Given the description of an element on the screen output the (x, y) to click on. 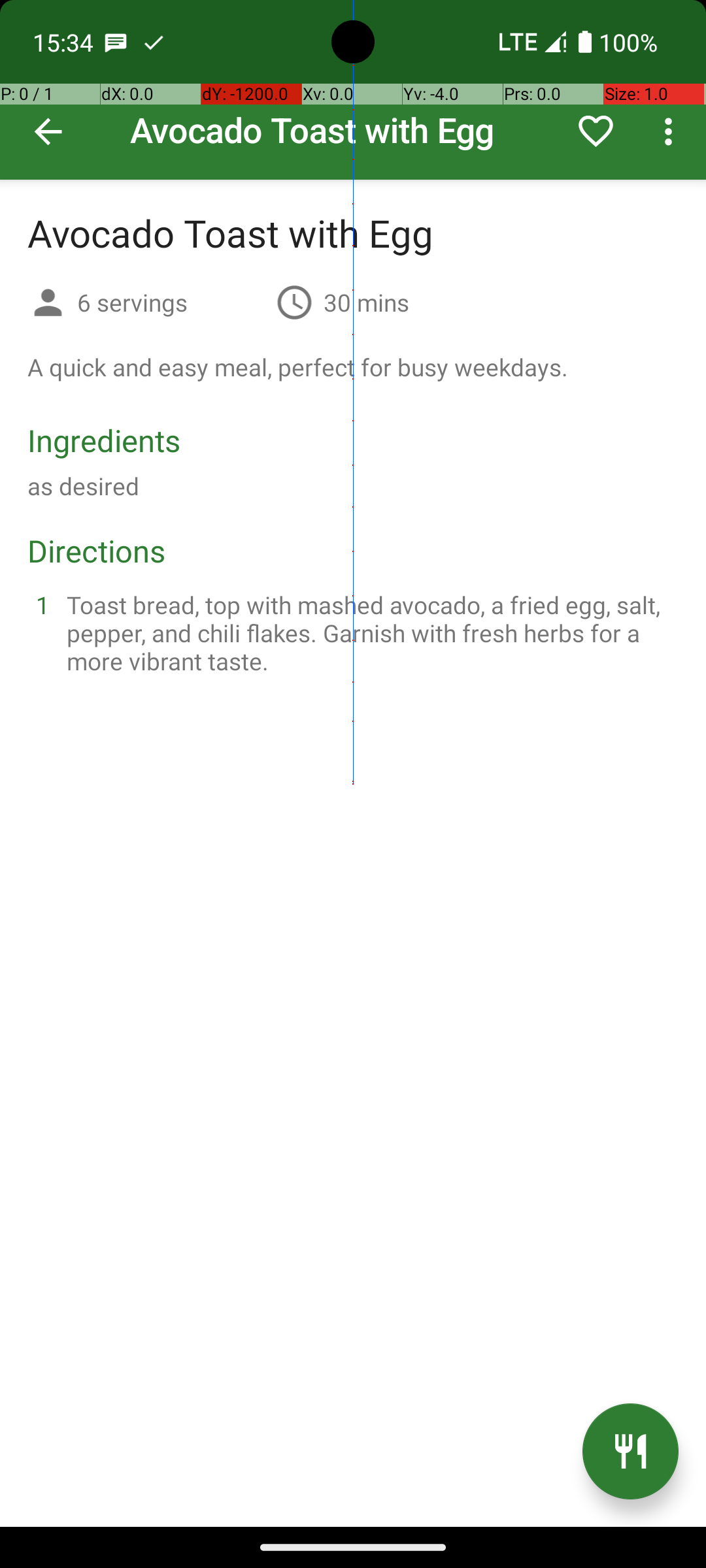
Toast bread, top with mashed avocado, a fried egg, salt, pepper, and chili flakes. Garnish with fresh herbs for a more vibrant taste. Element type: android.widget.TextView (368, 632)
